Given the description of an element on the screen output the (x, y) to click on. 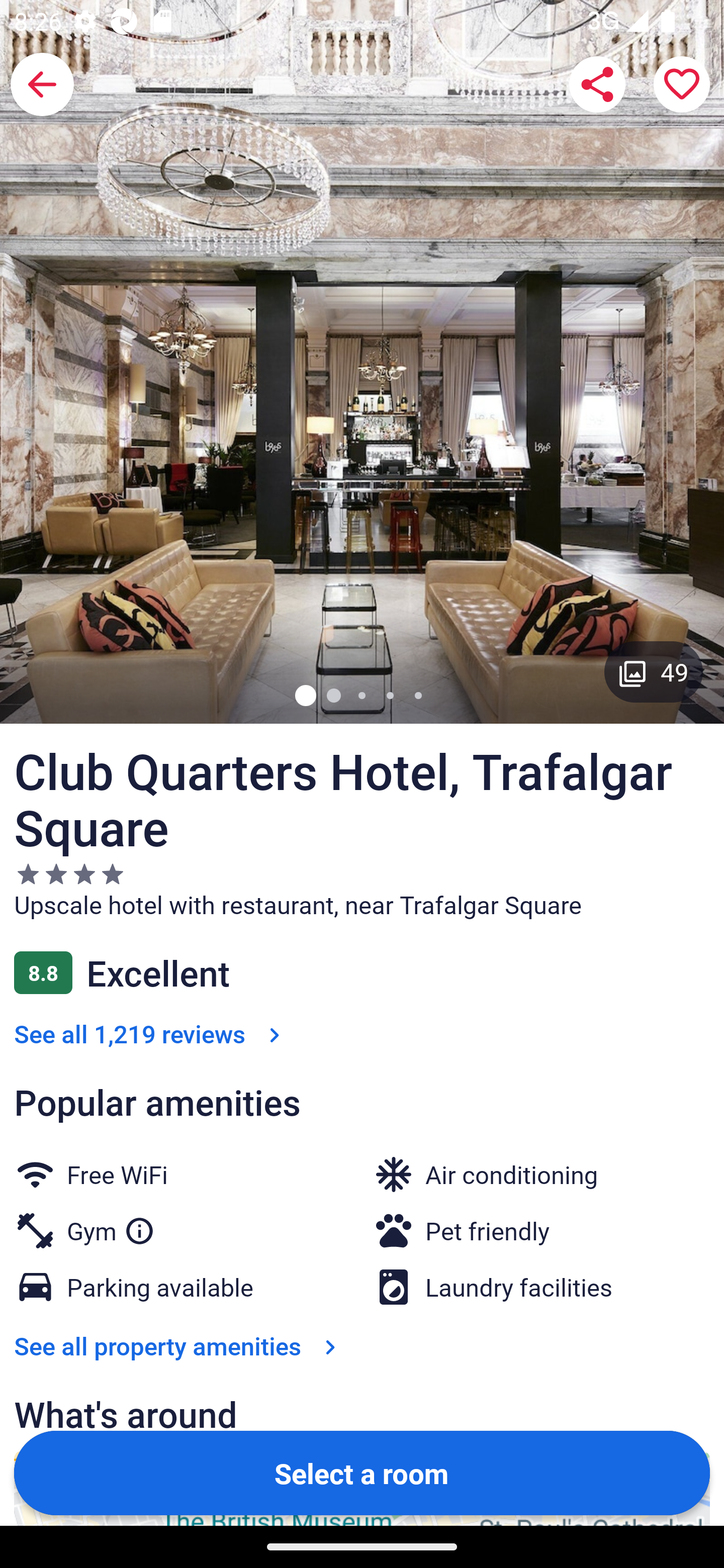
Back (42, 84)
Save property to a trip (681, 84)
Share Club Quarters Hotel, Trafalgar Square (597, 84)
Gallery button with 49 images (653, 671)
See all 1,219 reviews See all 1,219 reviews Link (150, 1032)
Gym (110, 1226)
See all property amenities (178, 1345)
Select a room Button Select a room (361, 1472)
